Given the description of an element on the screen output the (x, y) to click on. 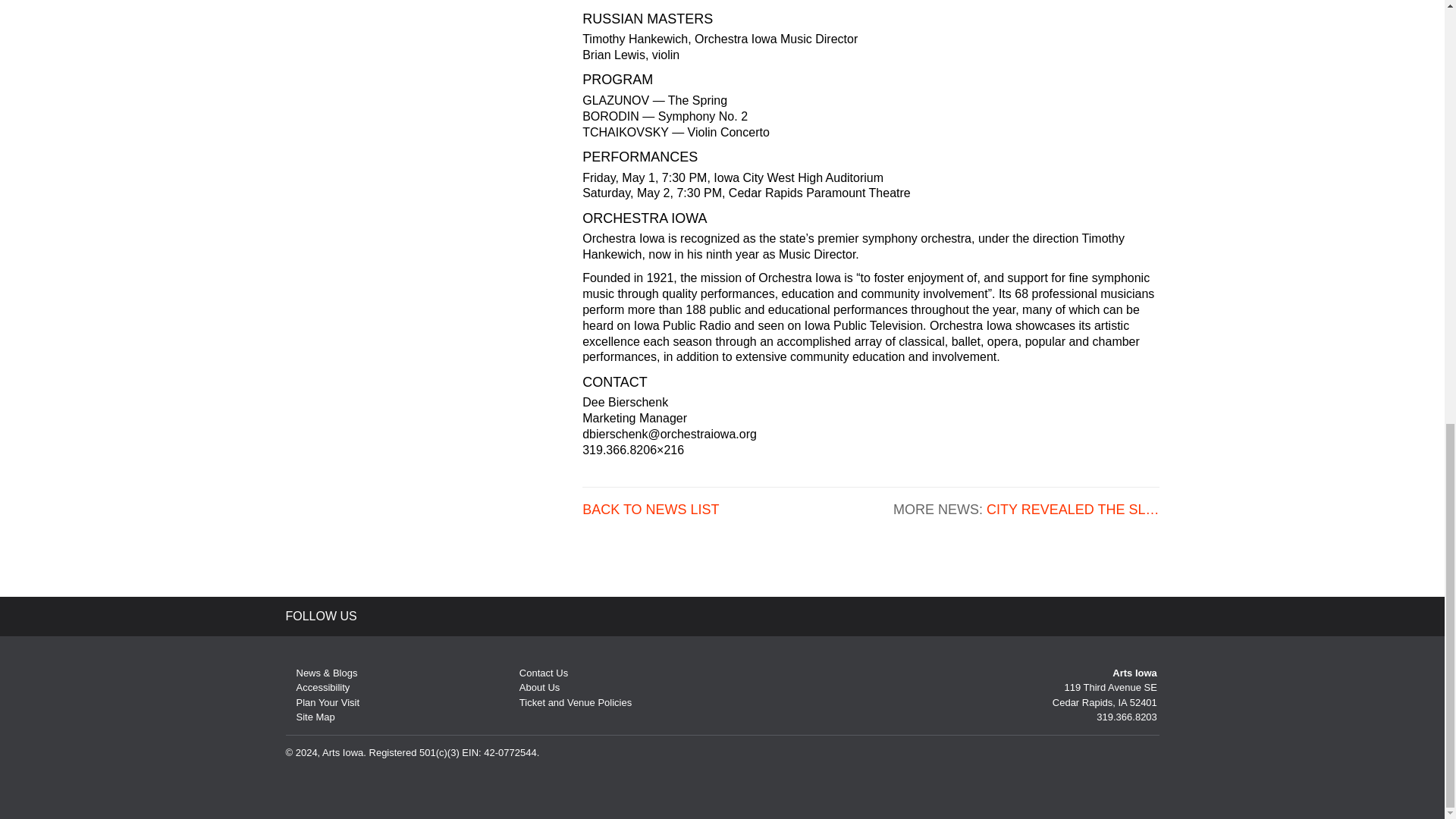
BACK TO NEWS LIST (650, 509)
Contact Us (537, 672)
Twitter (387, 615)
Plan Your Visit (322, 702)
Accessibility (317, 686)
About Us (533, 686)
Youtube (453, 615)
Facebook (420, 615)
